Given the description of an element on the screen output the (x, y) to click on. 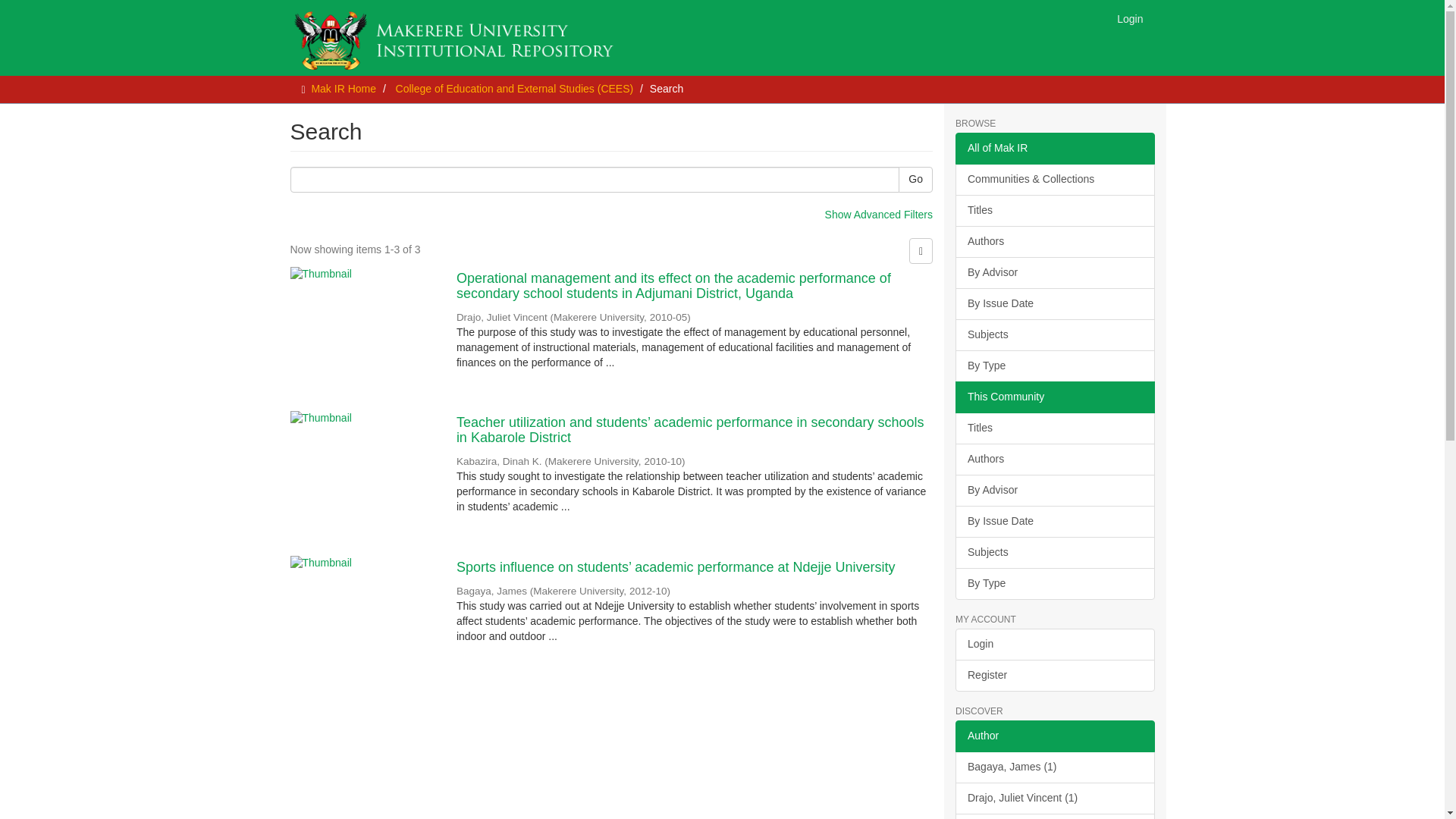
Go (915, 179)
Mak IR Home (343, 88)
Login (1129, 18)
Show Advanced Filters (879, 214)
